Given the description of an element on the screen output the (x, y) to click on. 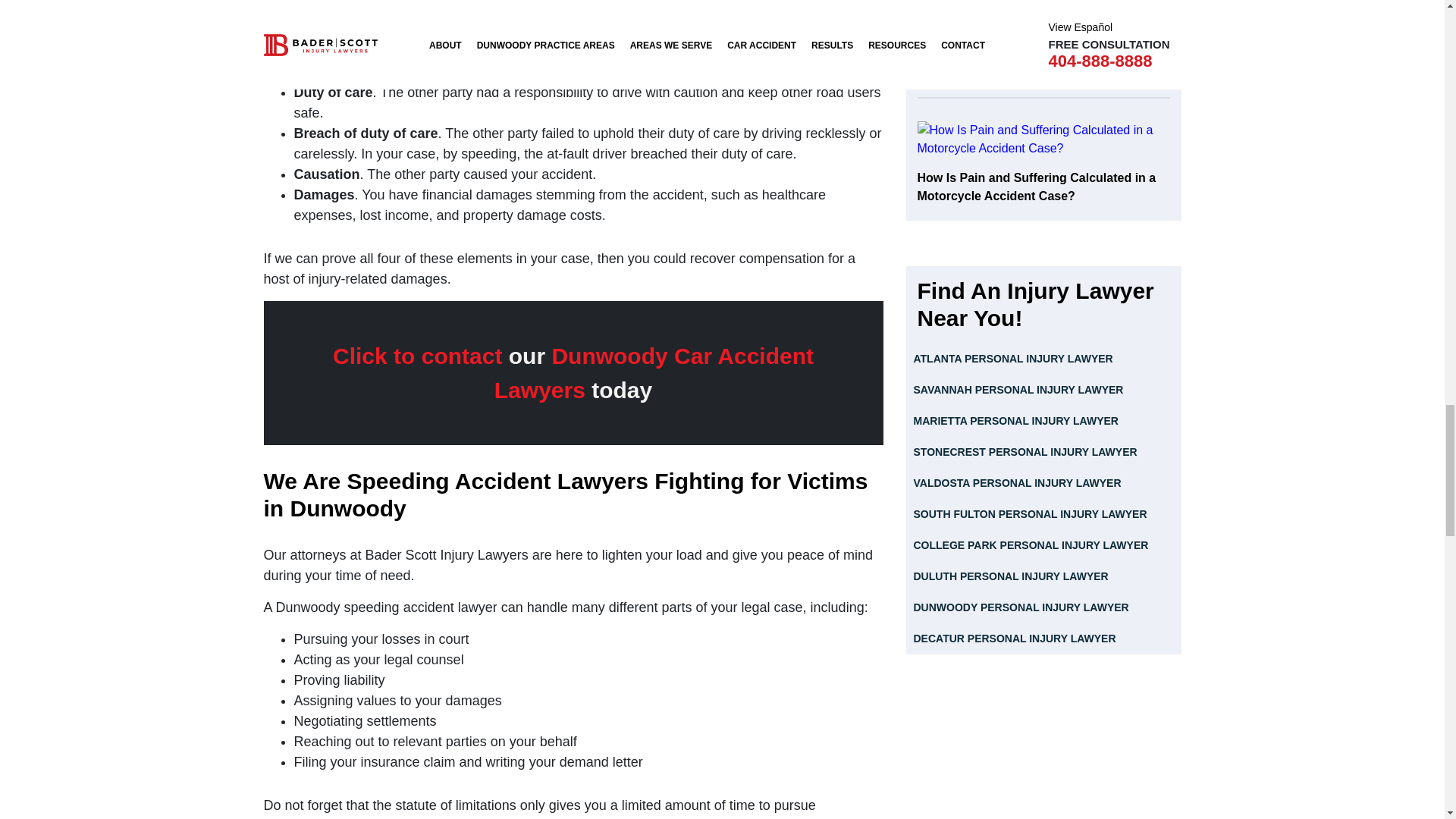
Dunwoody Car Accident Lawyers (654, 372)
